Given the description of an element on the screen output the (x, y) to click on. 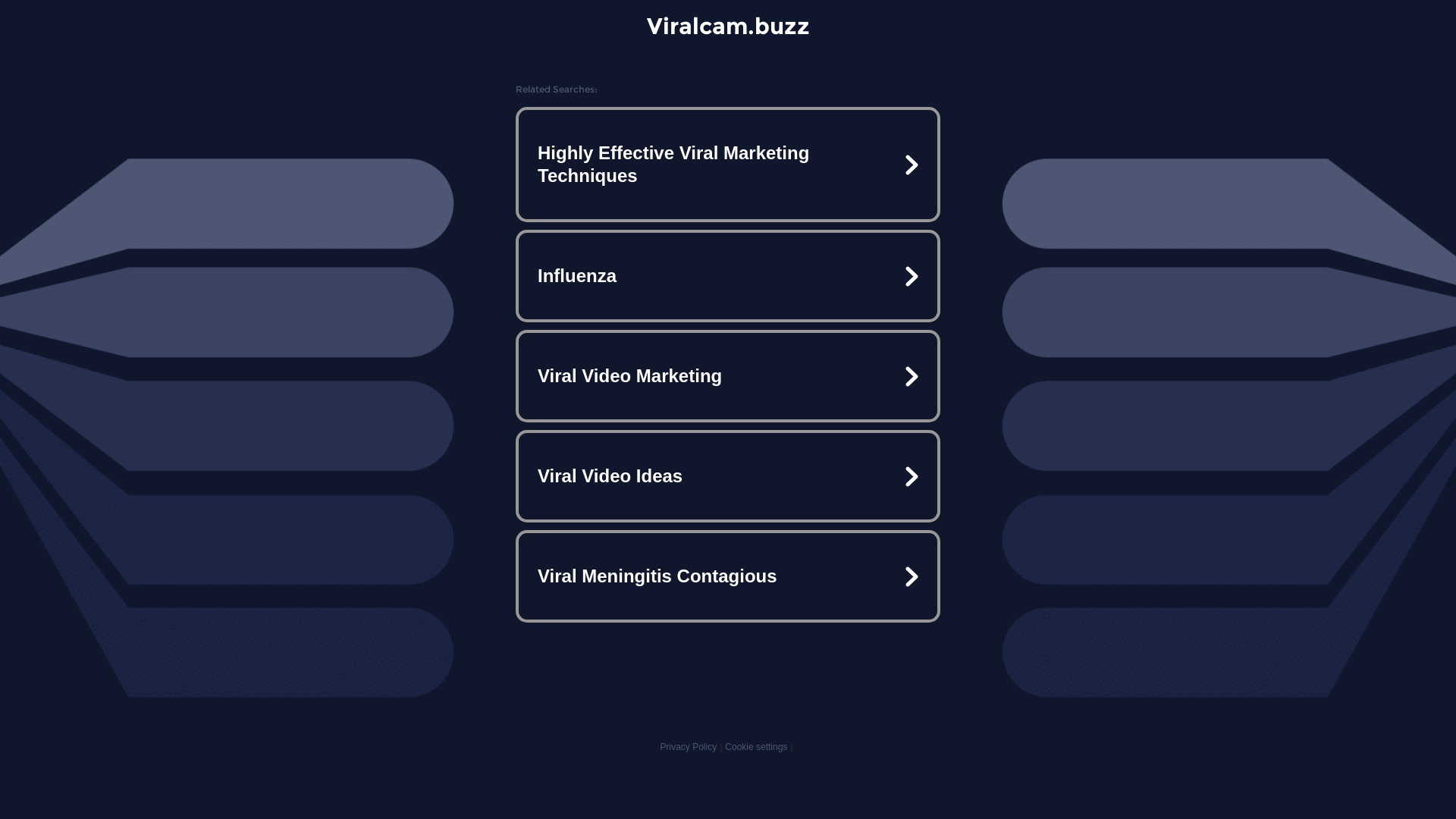
Viral Video Ideas Element type: text (727, 476)
Influenza Element type: text (727, 275)
Viral Meningitis Contagious Element type: text (727, 576)
Cookie settings Element type: text (755, 746)
Highly Effective Viral Marketing Techniques Element type: text (727, 164)
Viralcam.buzz Element type: text (727, 26)
Viral Video Marketing Element type: text (727, 375)
Privacy Policy Element type: text (687, 746)
